Given the description of an element on the screen output the (x, y) to click on. 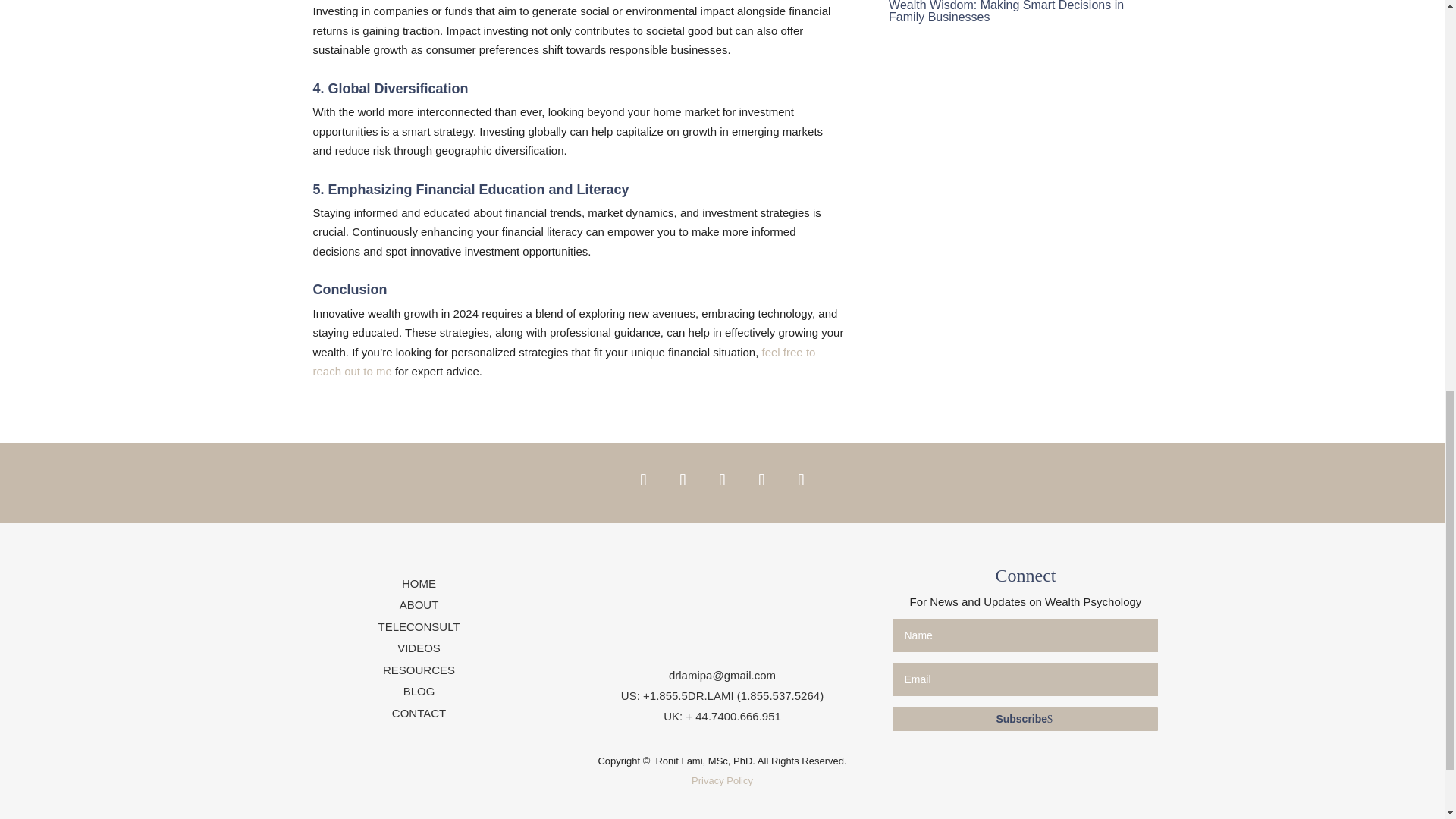
Follow on Youtube (800, 479)
Follow on Facebook (642, 479)
Follow on LinkedIn (760, 479)
Follow on X (681, 479)
Follow on Instagram (721, 479)
